Given the description of an element on the screen output the (x, y) to click on. 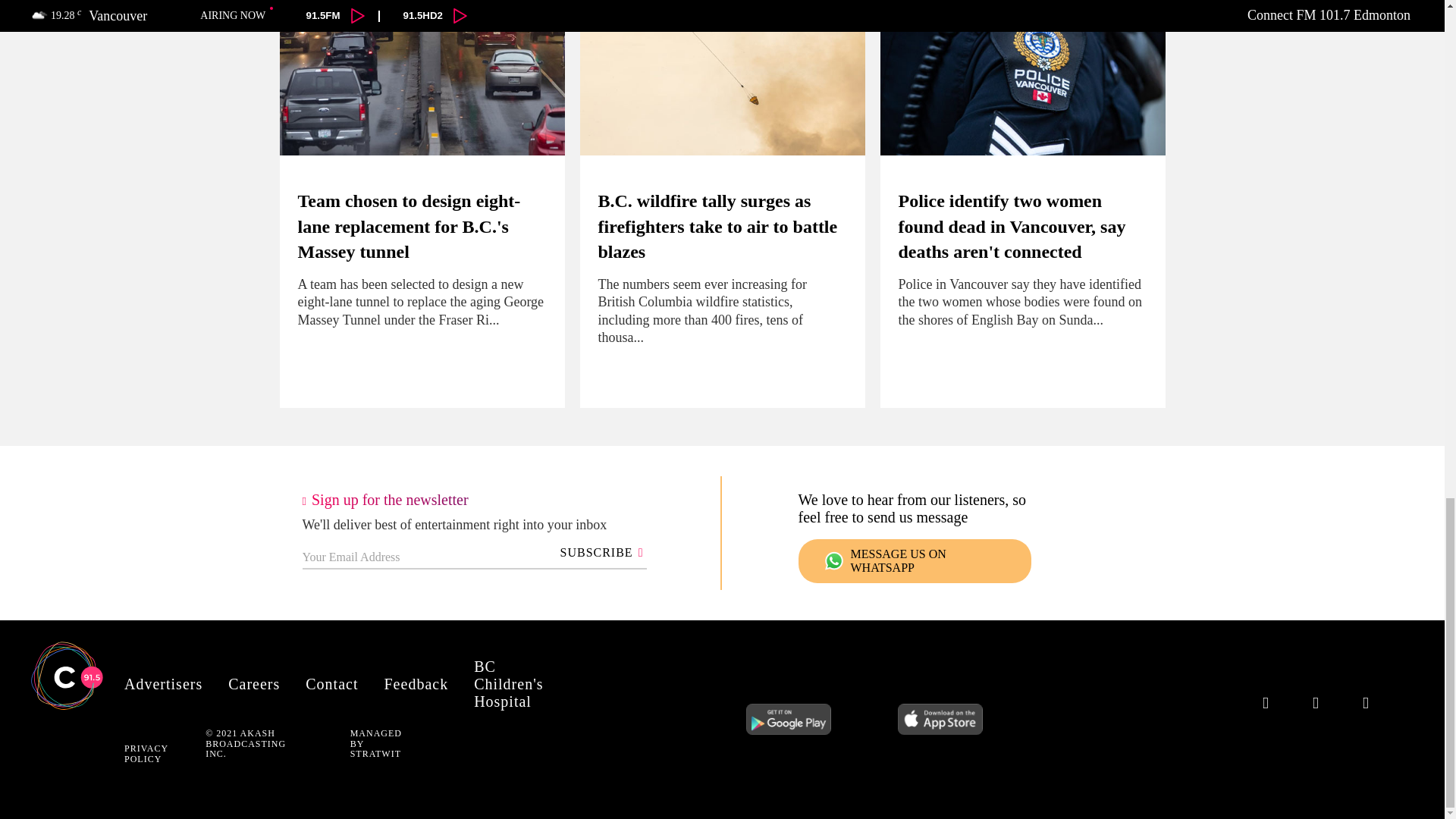
SUBSCRIBE (599, 552)
